Given the description of an element on the screen output the (x, y) to click on. 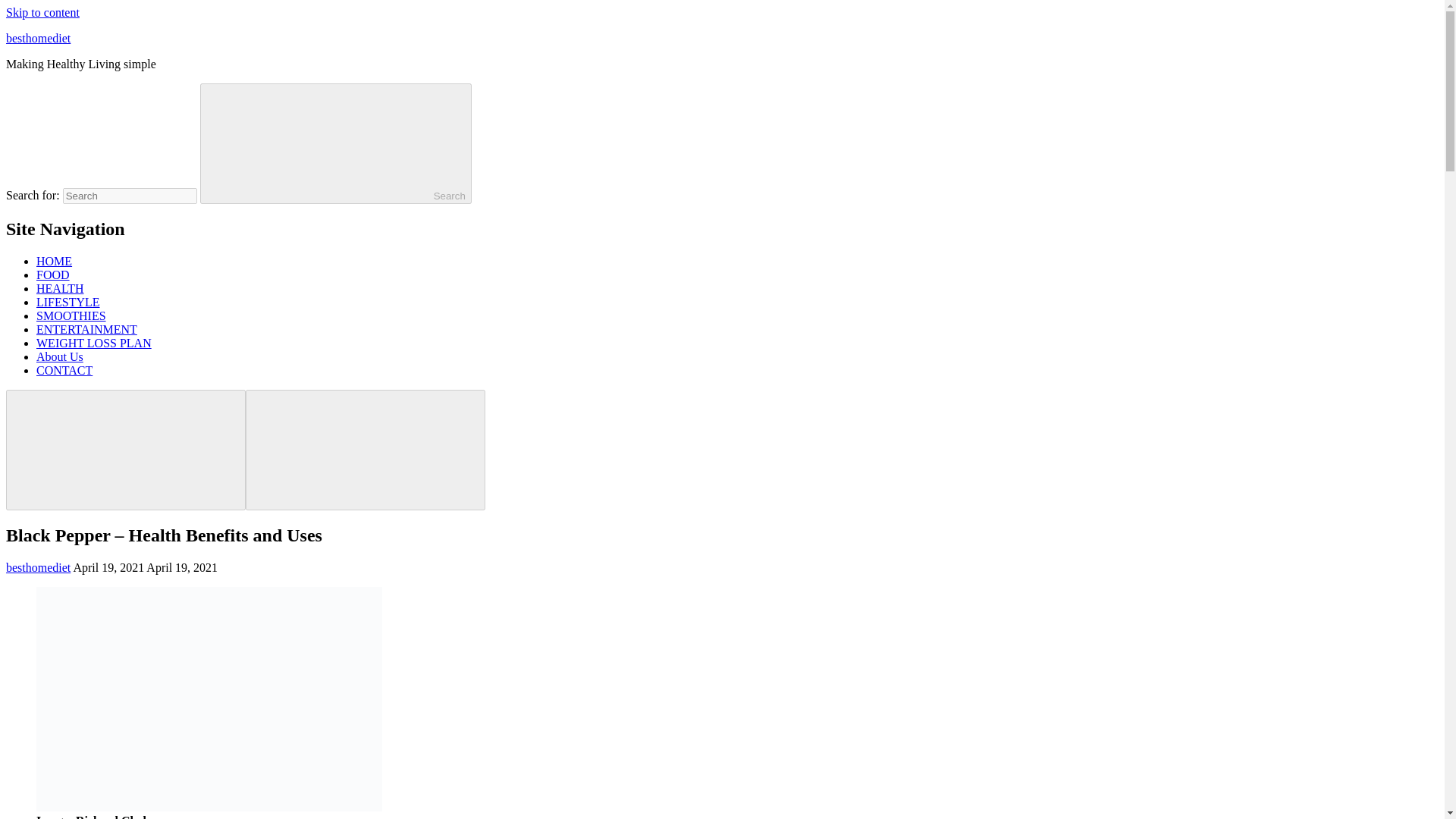
Search (335, 143)
SMOOTHIES (71, 315)
About Us (59, 356)
HOME (53, 260)
CONTACT (64, 369)
Skip to content (42, 11)
besthomediet (37, 38)
FOOD (52, 274)
HEALTH (60, 287)
ENTERTAINMENT (86, 328)
Search for: (129, 195)
LIFESTYLE (68, 301)
WEIGHT LOSS PLAN (93, 342)
besthomediet (37, 567)
